Given the description of an element on the screen output the (x, y) to click on. 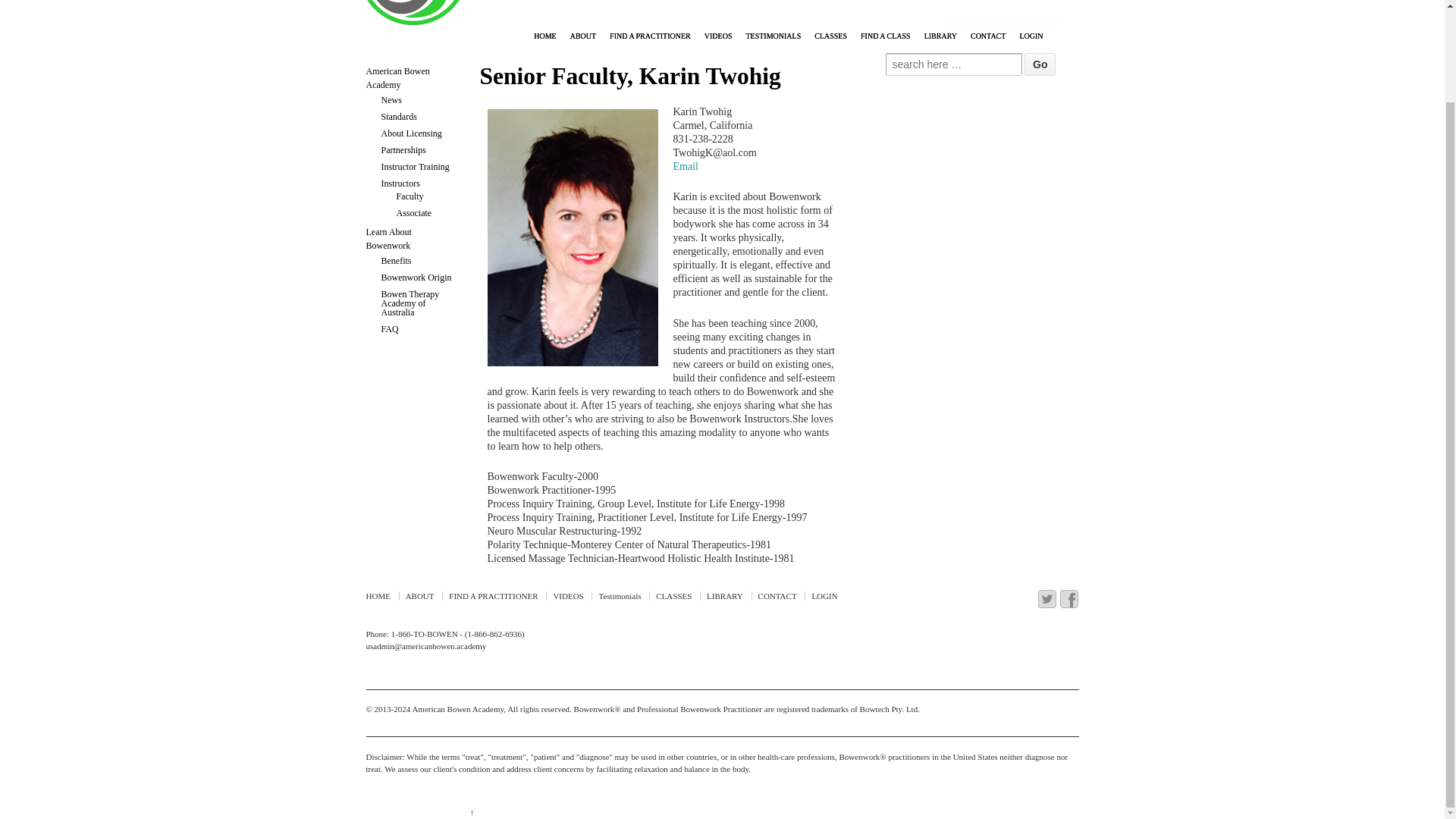
TESTIMONIALS (773, 37)
CONTACT (987, 37)
VIDEOS (718, 37)
Go (1040, 64)
FIND A CLASS (885, 37)
ABOUT (582, 37)
CLASSES (830, 37)
FIND A PRACTITIONER (649, 37)
LIBRARY (940, 37)
HOME (544, 37)
